Given the description of an element on the screen output the (x, y) to click on. 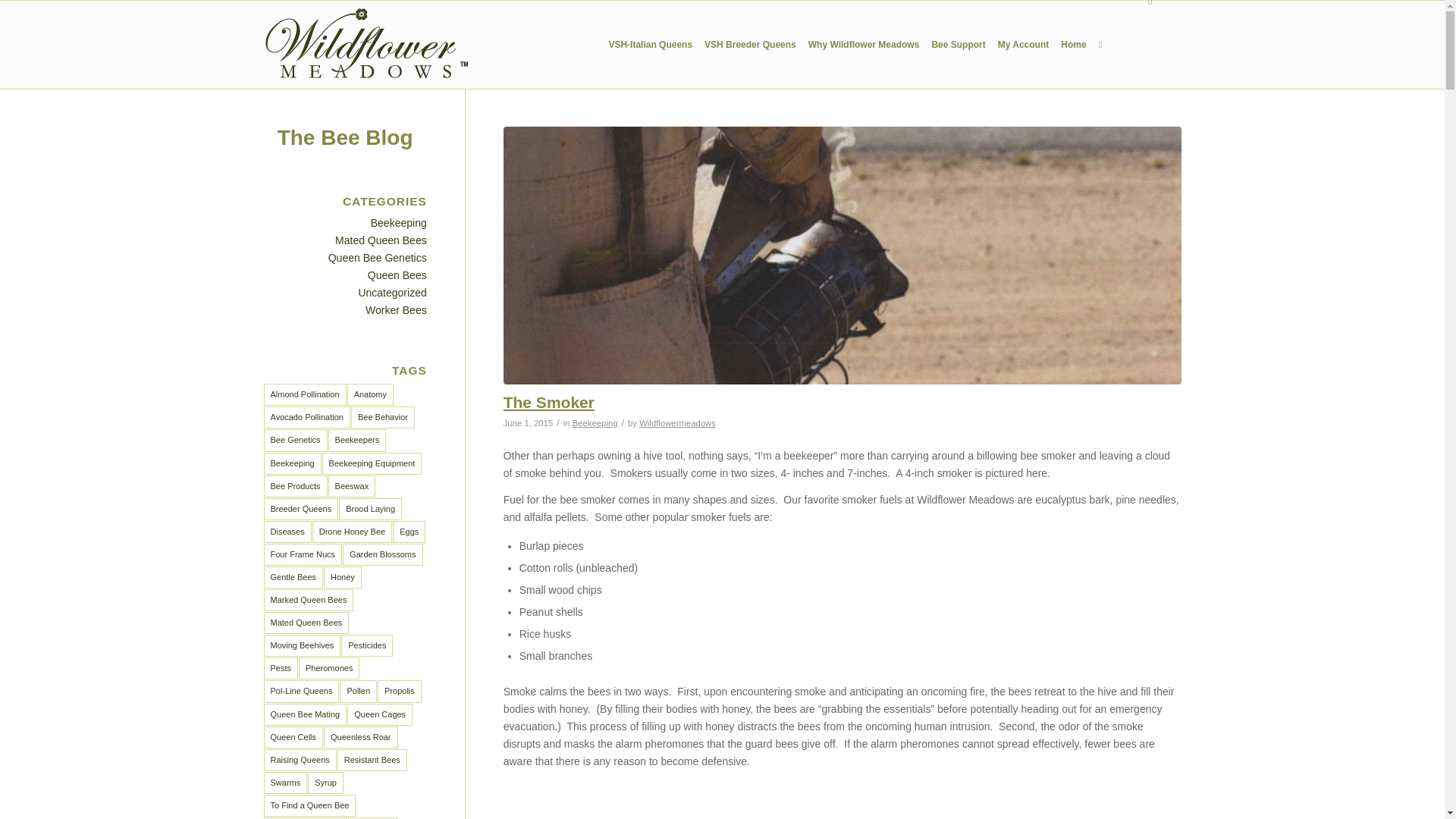
VSH-Italian Queens (650, 44)
Wildflowermeadows (677, 422)
Why Wildflower Meadows (864, 44)
The Smoker (548, 402)
Posts by Wildflowermeadows (677, 422)
Beekeeping (594, 422)
VSH Breeder Queens (750, 44)
Permanent Link: The Smoker (548, 402)
